Given the description of an element on the screen output the (x, y) to click on. 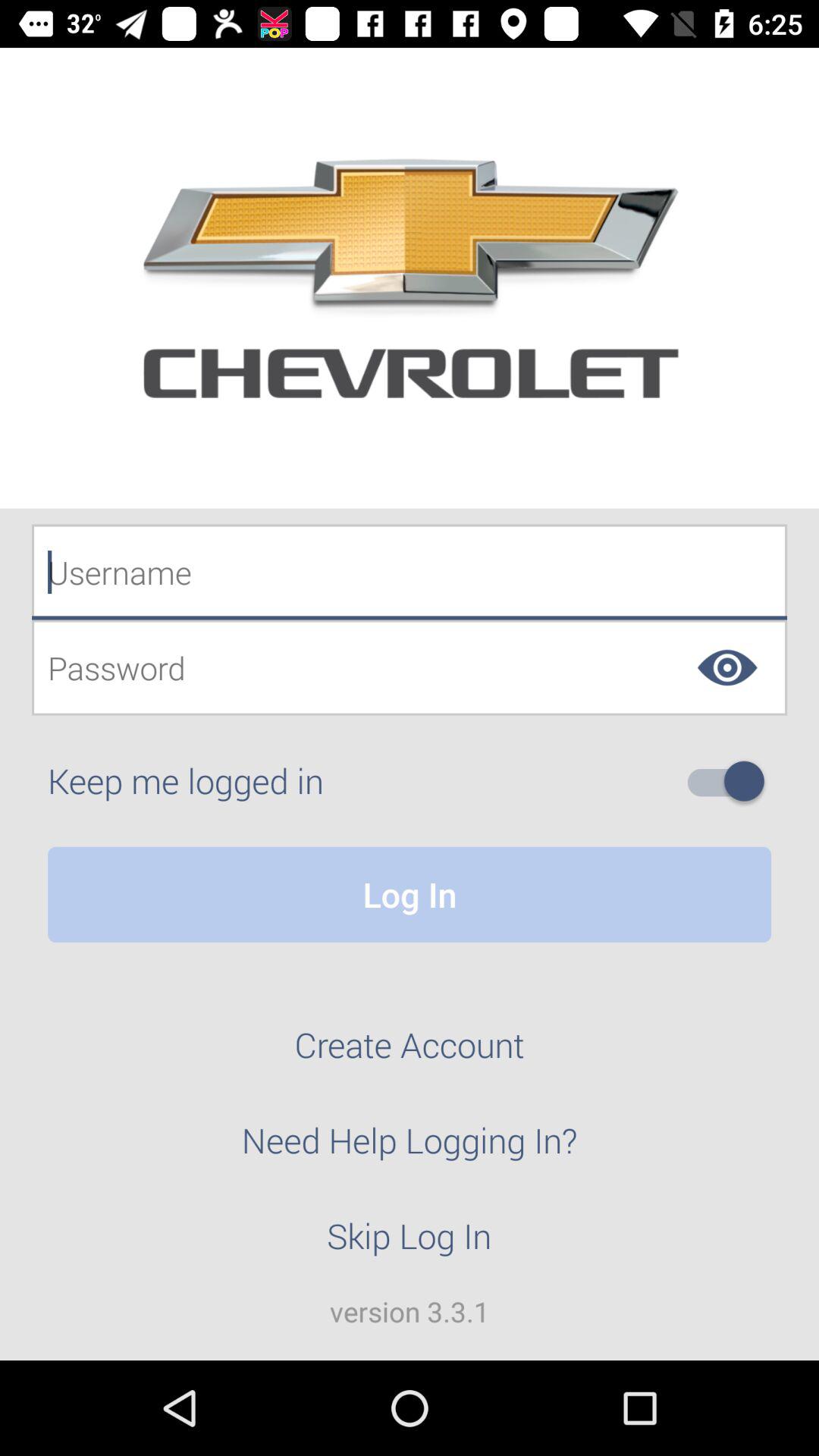
open icon to the right of the keep me logged icon (731, 781)
